Given the description of an element on the screen output the (x, y) to click on. 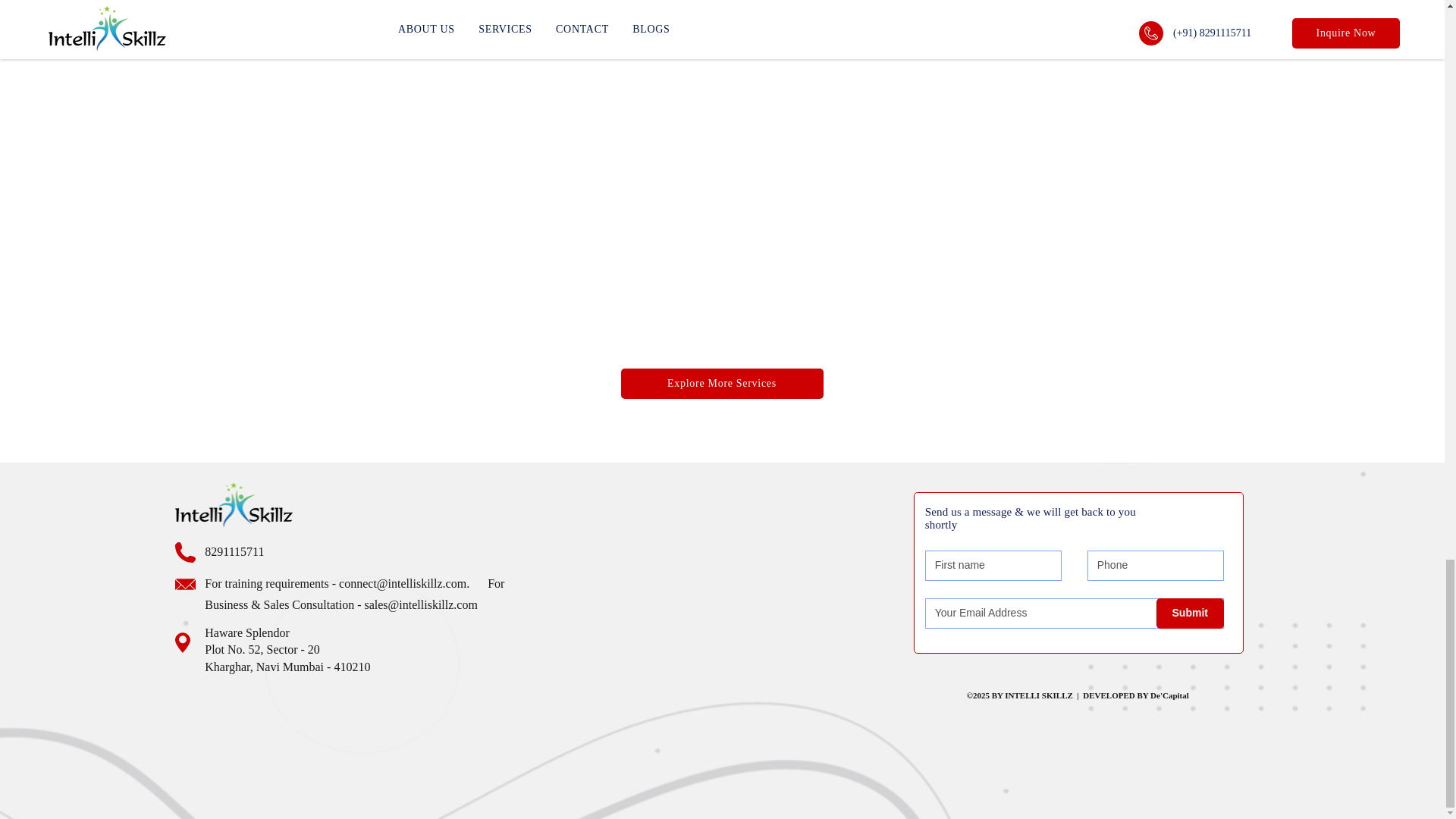
Explore More Services (721, 383)
IntelliSkillz.png (233, 505)
Submit (1190, 613)
